Given the description of an element on the screen output the (x, y) to click on. 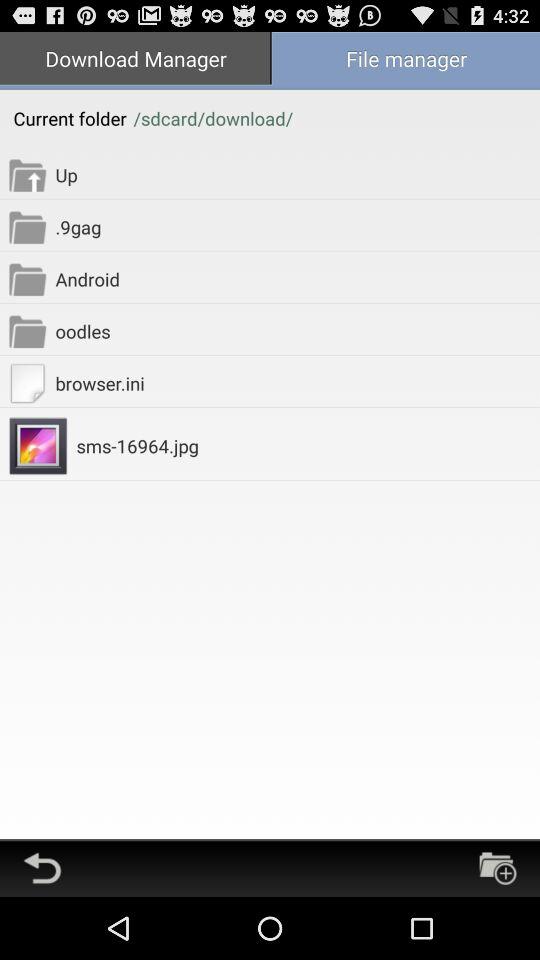
press .9gag (297, 226)
